Given the description of an element on the screen output the (x, y) to click on. 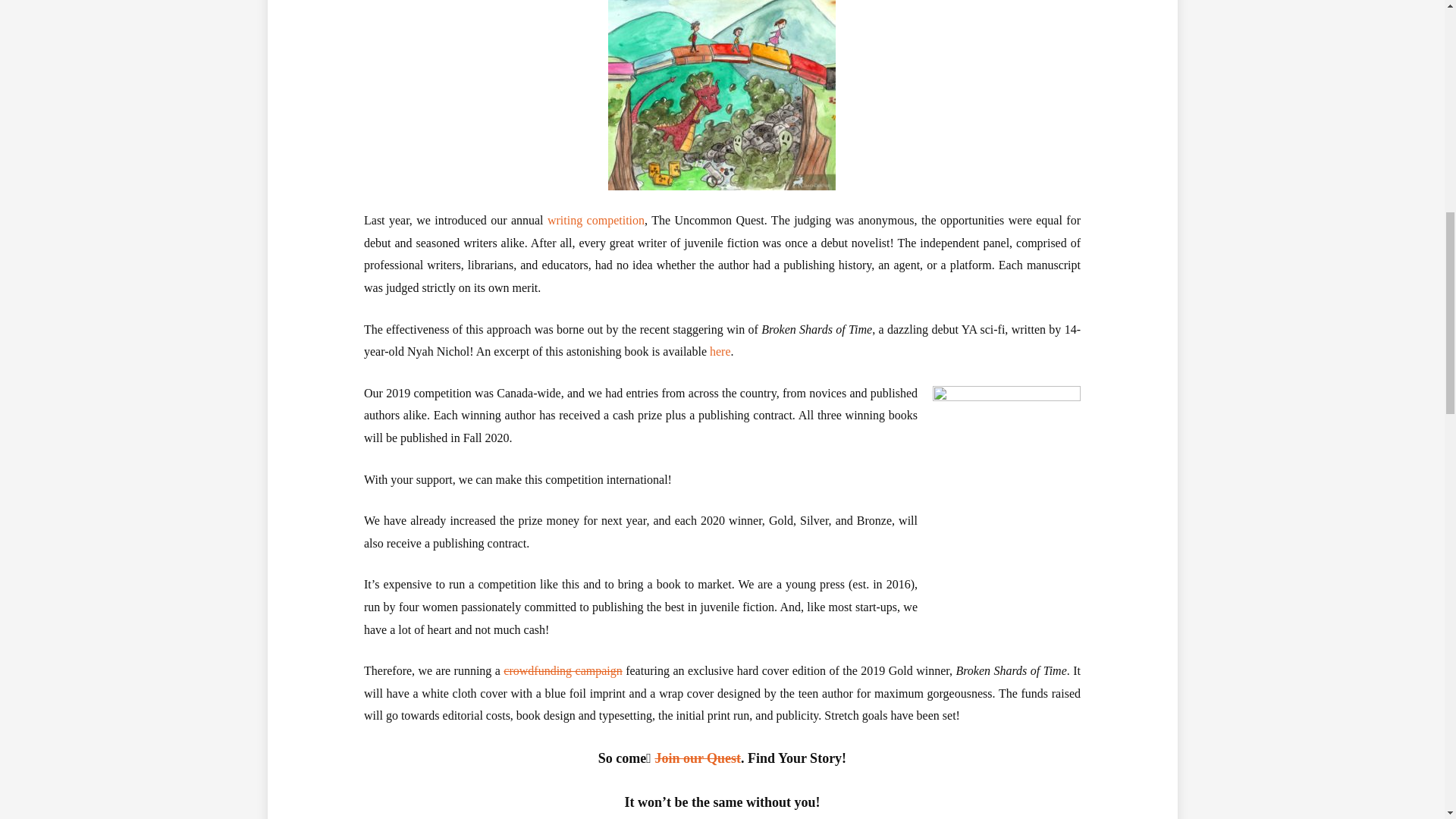
Join our Quest (697, 758)
crowdfunding campaign (562, 670)
writing competition (596, 219)
here (720, 350)
